Given the description of an element on the screen output the (x, y) to click on. 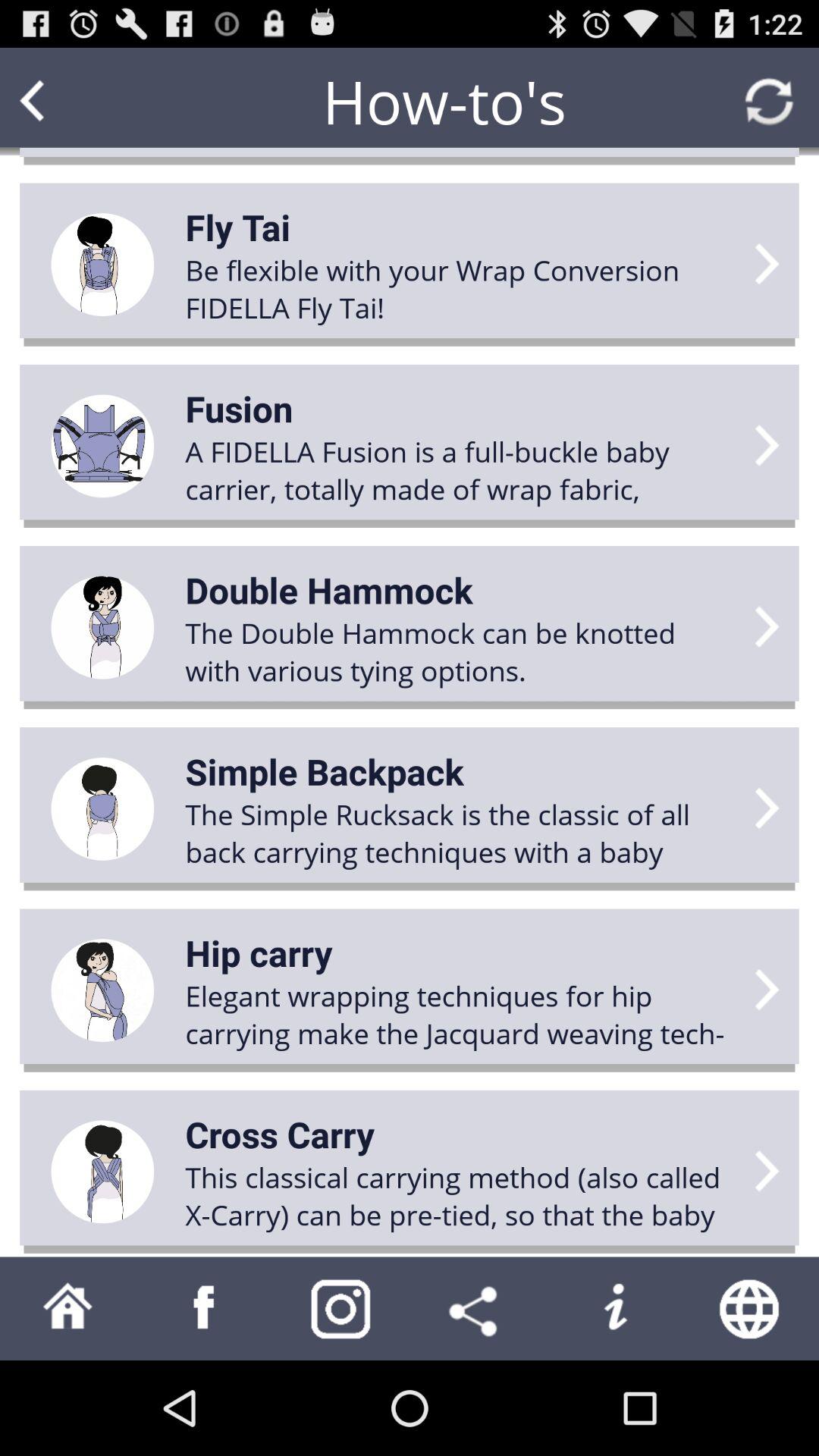
choose the the simple rucksack app (460, 832)
